Given the description of an element on the screen output the (x, y) to click on. 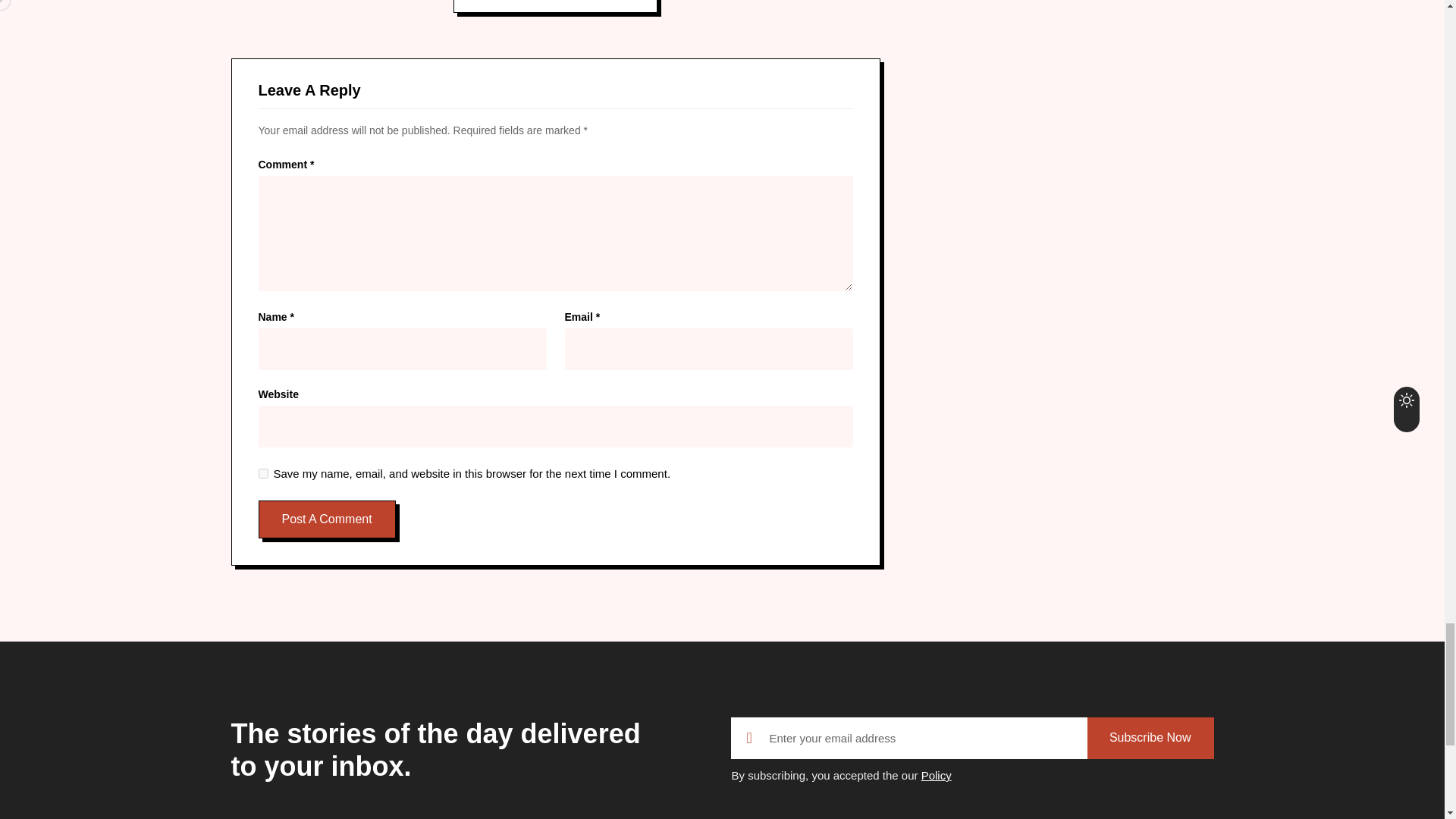
Post a Comment (325, 519)
yes (262, 473)
